Given the description of an element on the screen output the (x, y) to click on. 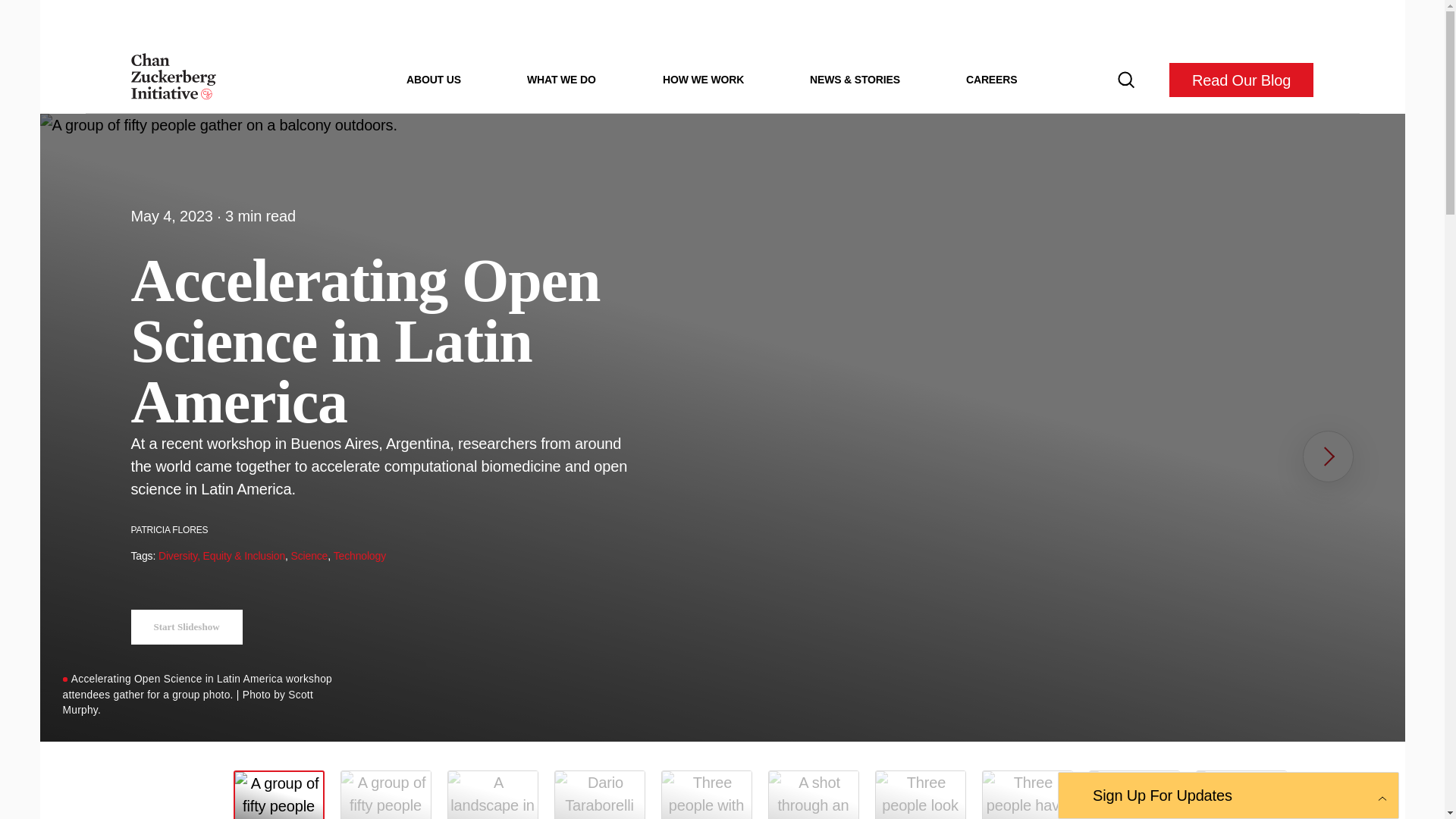
WHAT WE DO (561, 78)
ABOUT US (433, 78)
HOW WE WORK (703, 78)
New Homepage (173, 79)
